Given the description of an element on the screen output the (x, y) to click on. 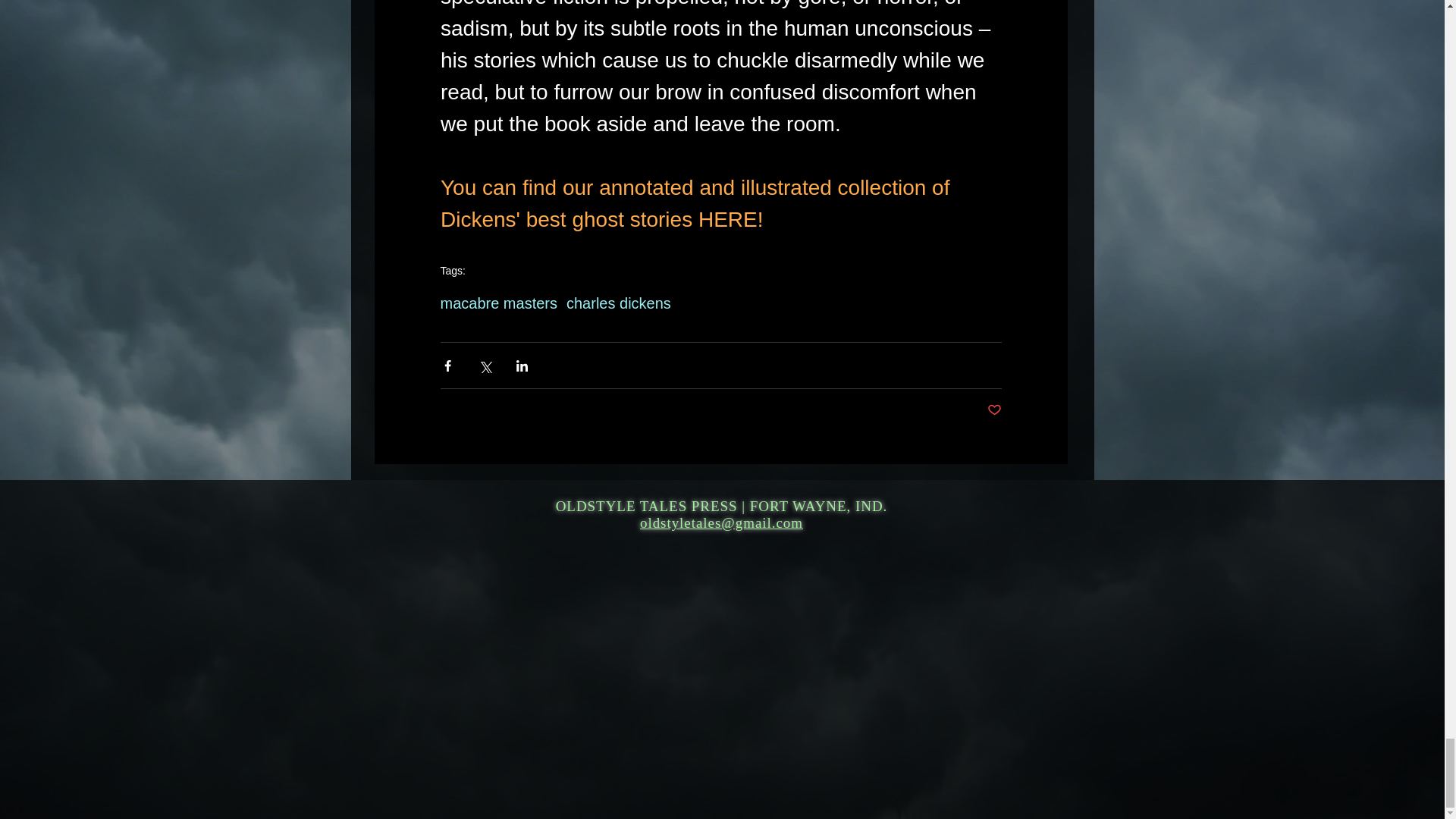
macabre masters (498, 303)
Post not marked as liked (994, 410)
charles dickens (618, 303)
FORT WAYNE, IND. (818, 506)
